Given the description of an element on the screen output the (x, y) to click on. 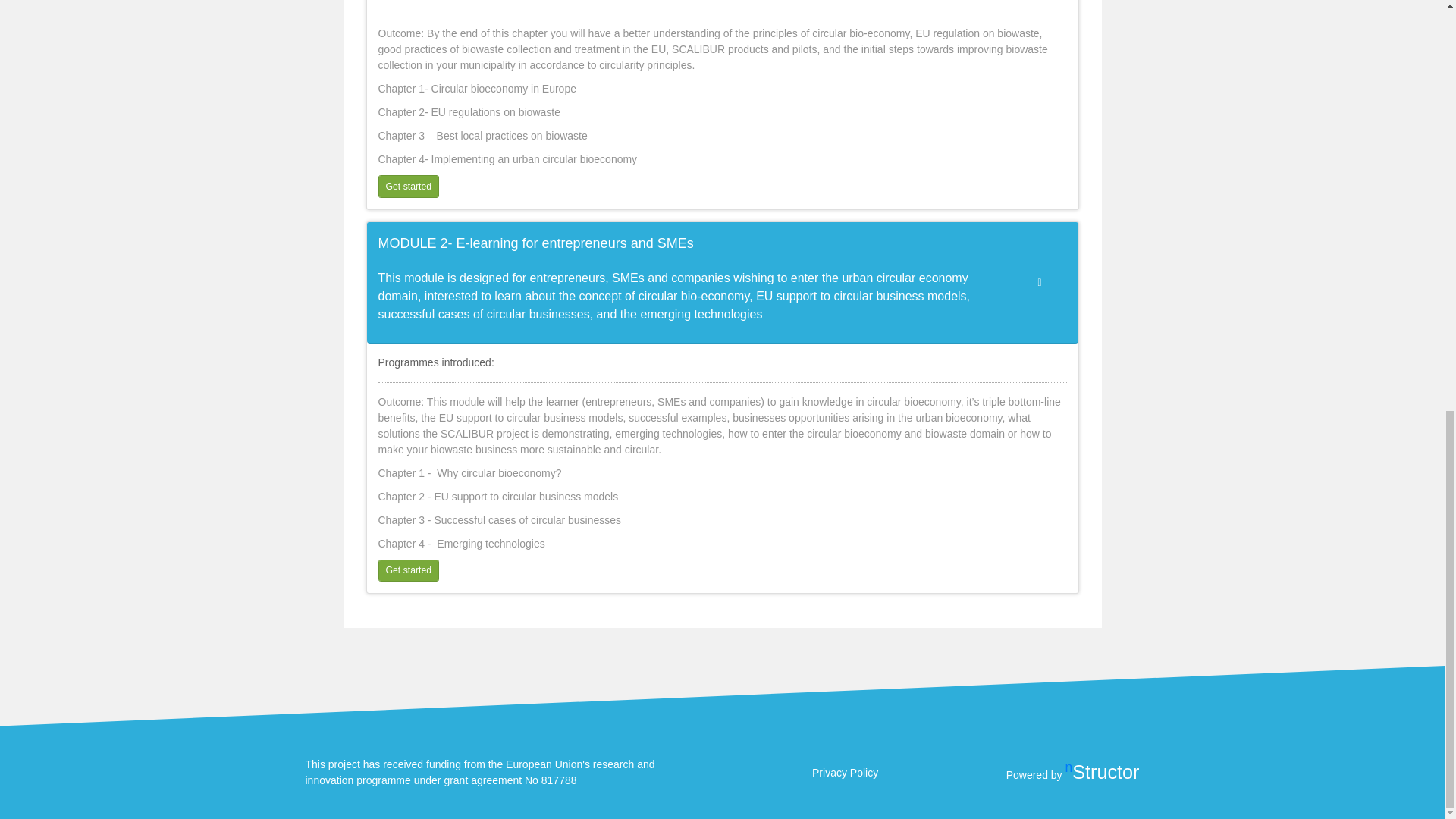
Privacy Policy (844, 772)
Get started (408, 570)
Get started (408, 186)
MODULE 2- E-learning for entrepreneurs and SMEs (687, 243)
